Given the description of an element on the screen output the (x, y) to click on. 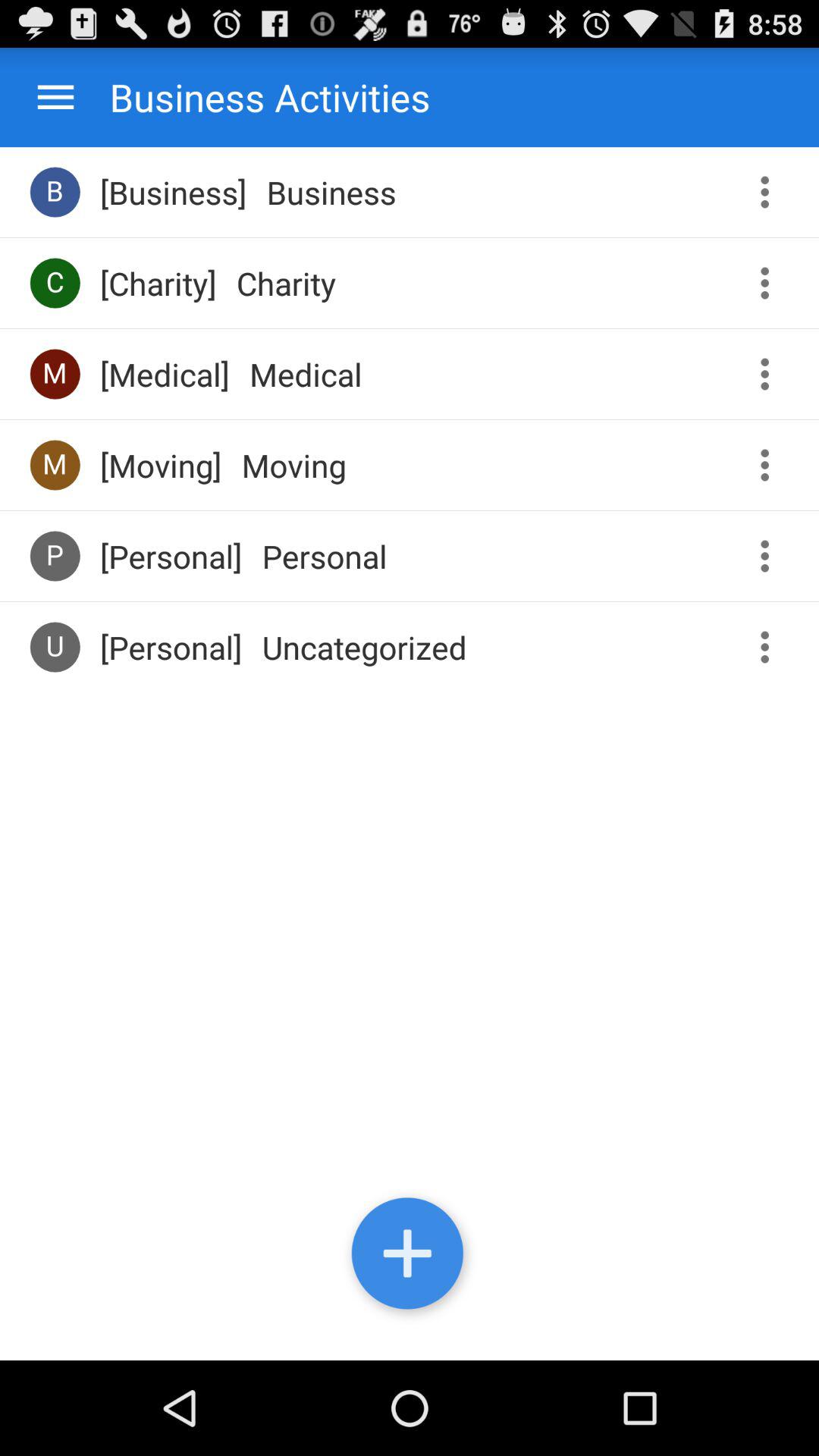
get more options (770, 192)
